Given the description of an element on the screen output the (x, y) to click on. 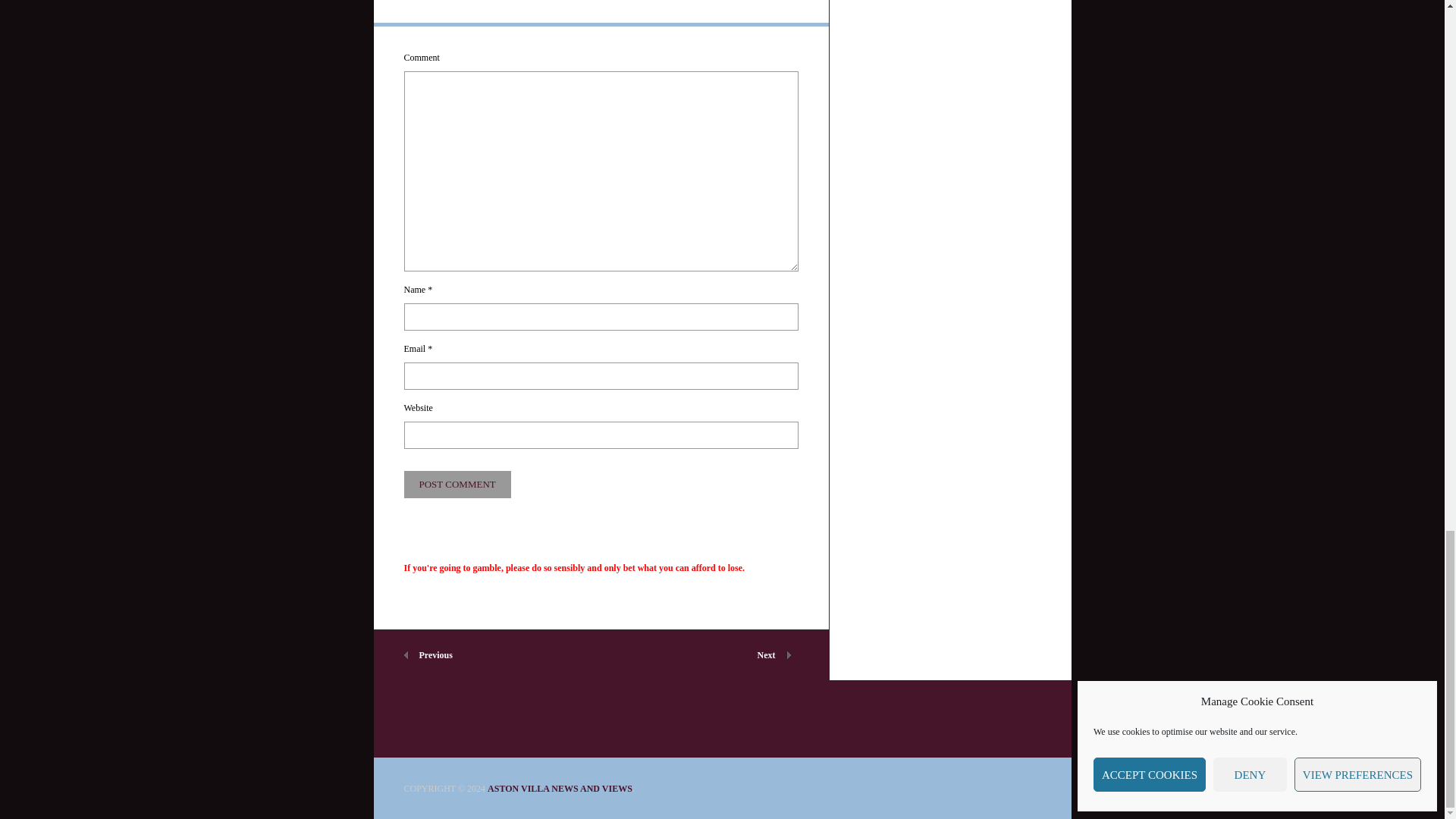
Post Comment (457, 483)
